Given the description of an element on the screen output the (x, y) to click on. 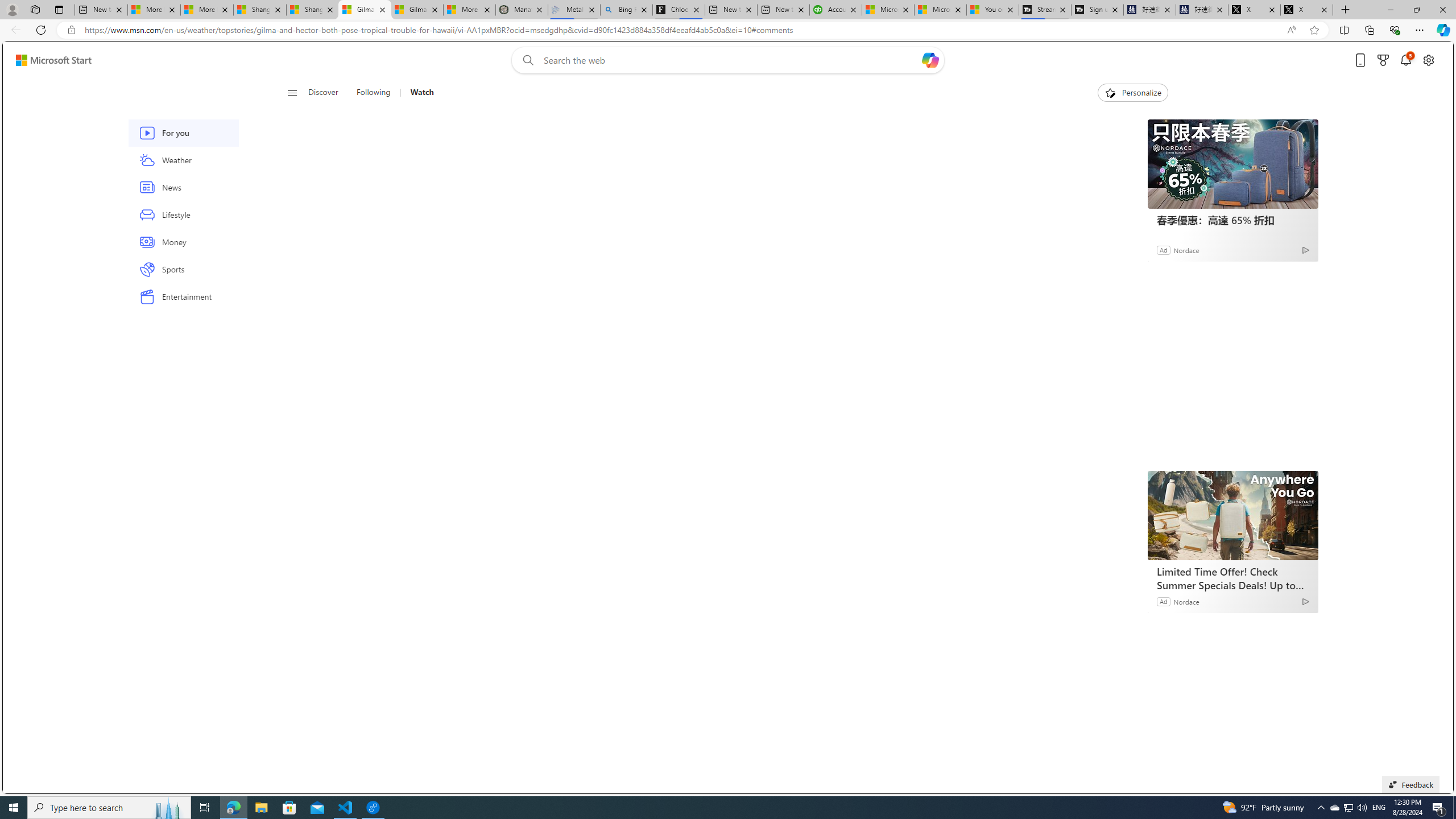
Limited Time Offer! Check Summer Specials Deals! Up to -55%! (1232, 515)
